Given the description of an element on the screen output the (x, y) to click on. 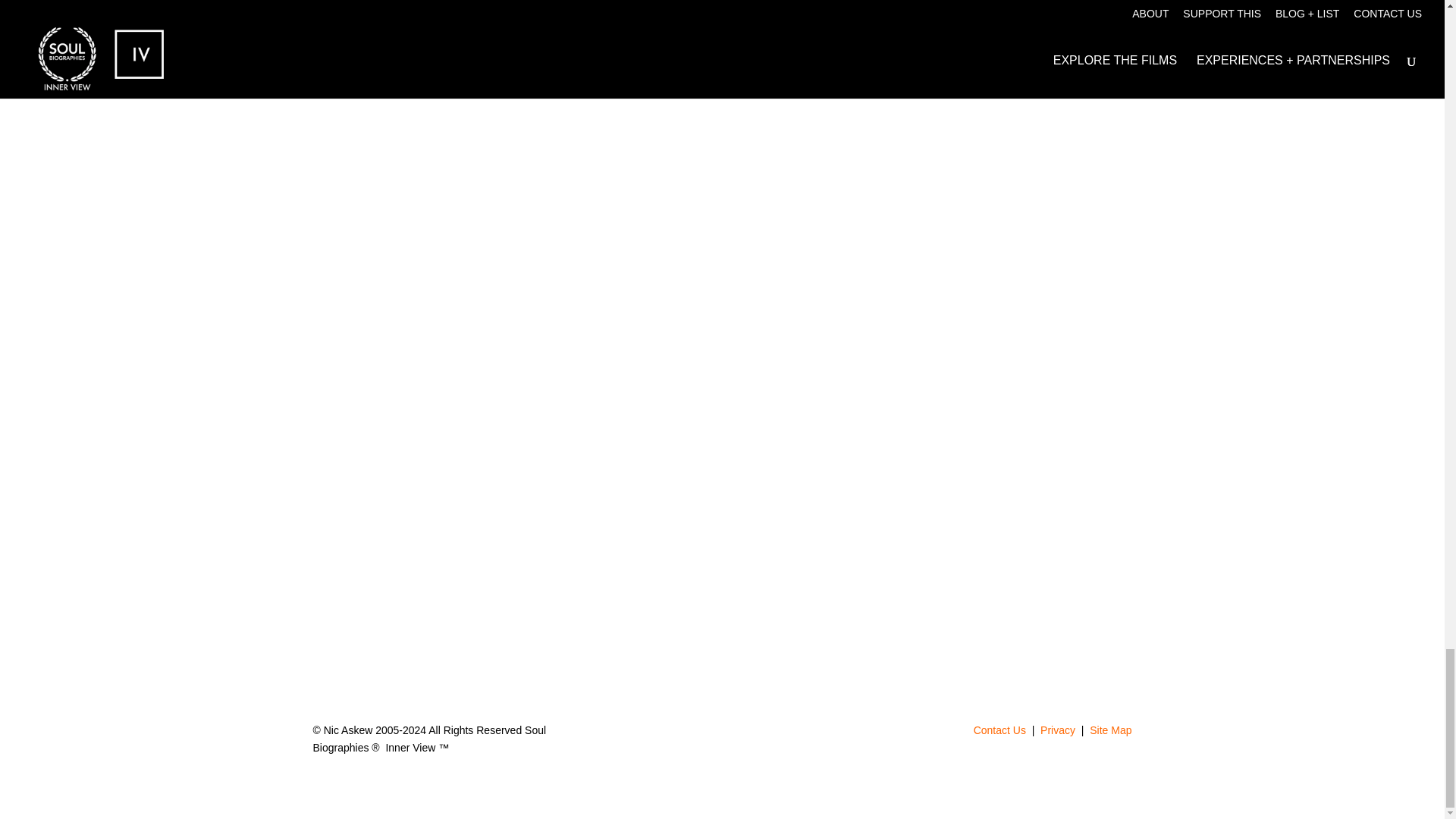
Follow on LinkedIn (675, 733)
Site Map (1110, 729)
Contact Us (1000, 729)
Follow on Instagram (706, 733)
Privacy  (1059, 729)
Follow on Youtube (766, 733)
Follow on Facebook (737, 733)
